Given the description of an element on the screen output the (x, y) to click on. 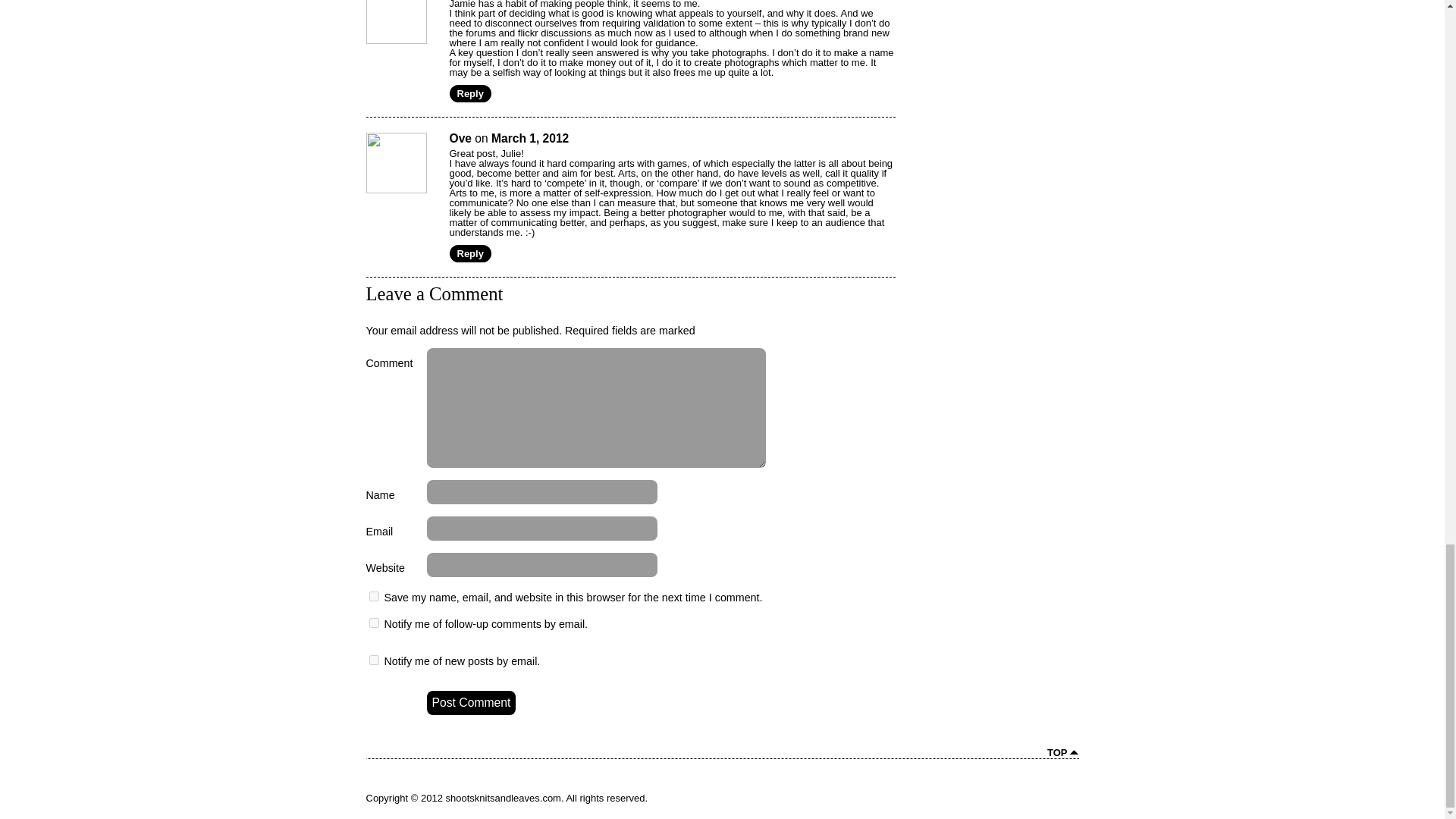
Wordspop (1042, 794)
yes (373, 596)
Reply (469, 93)
Reply (469, 253)
Ove (459, 137)
March 1, 2012 (530, 137)
subscribe (373, 623)
subscribe (373, 660)
Post Comment (470, 702)
TOP (1062, 752)
Post Comment (470, 702)
